Given the description of an element on the screen output the (x, y) to click on. 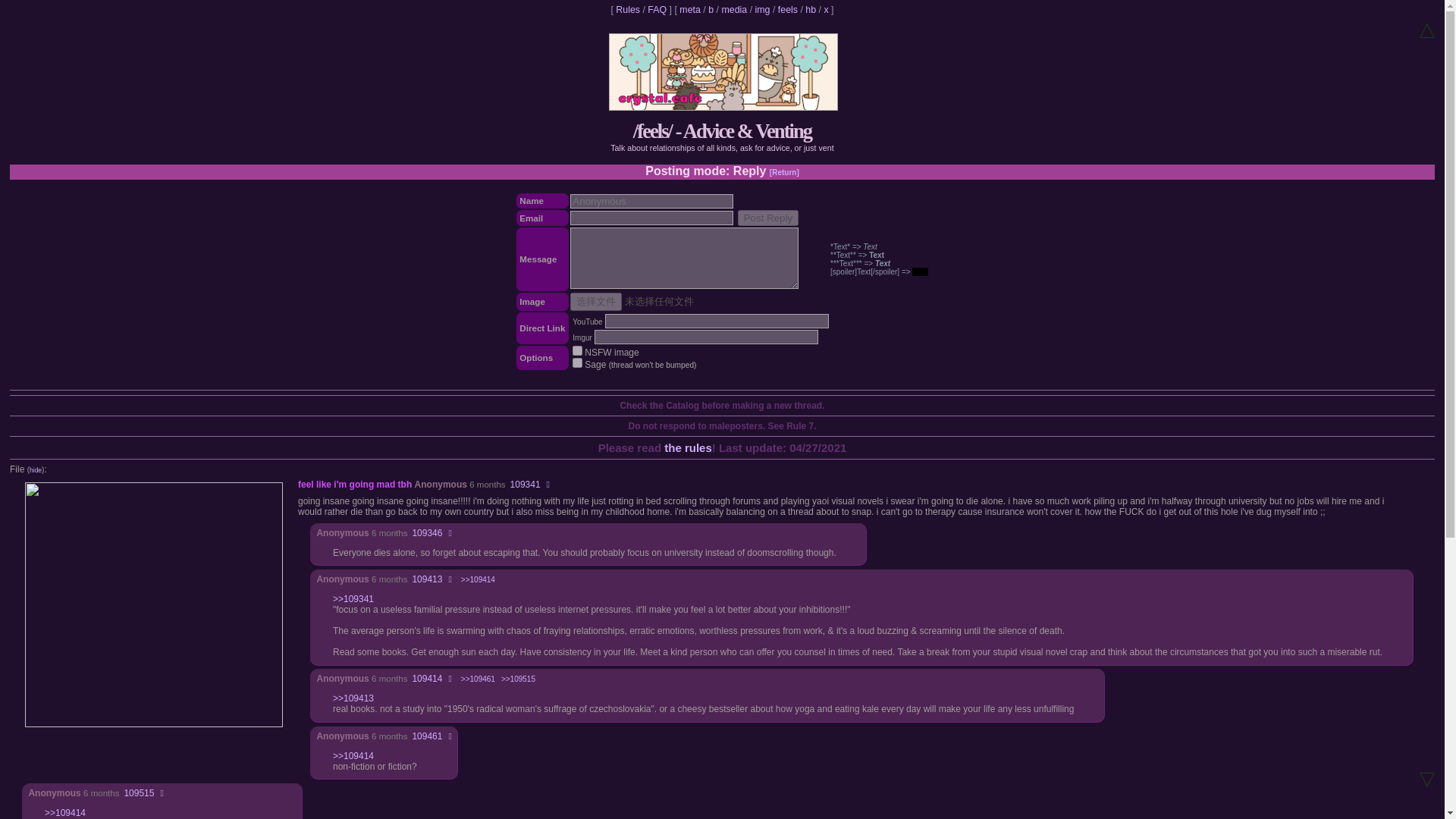
the rules (687, 447)
meta (689, 9)
6 months (100, 792)
109413 (427, 579)
6 months (389, 736)
on (577, 362)
Post Reply (767, 217)
FAQ (656, 9)
hide (35, 470)
6 months (389, 532)
